Given the description of an element on the screen output the (x, y) to click on. 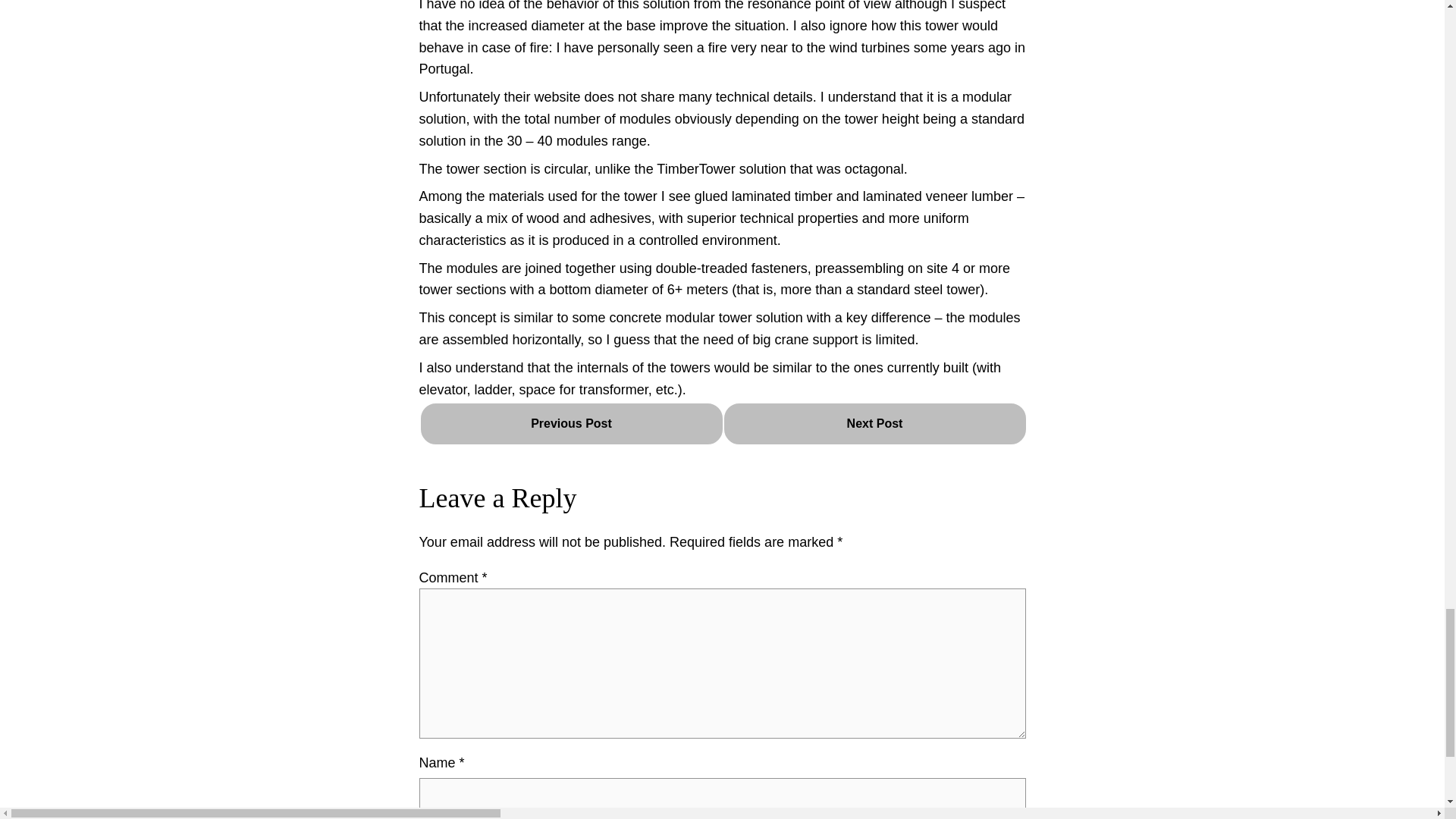
Previous Post (571, 423)
Previous Post (571, 422)
Printable 3D concrete wind turbine towers (571, 422)
Next Post (874, 422)
The importance of the geophysical survey for a Wind Farm (874, 422)
Next Post (874, 423)
